Given the description of an element on the screen output the (x, y) to click on. 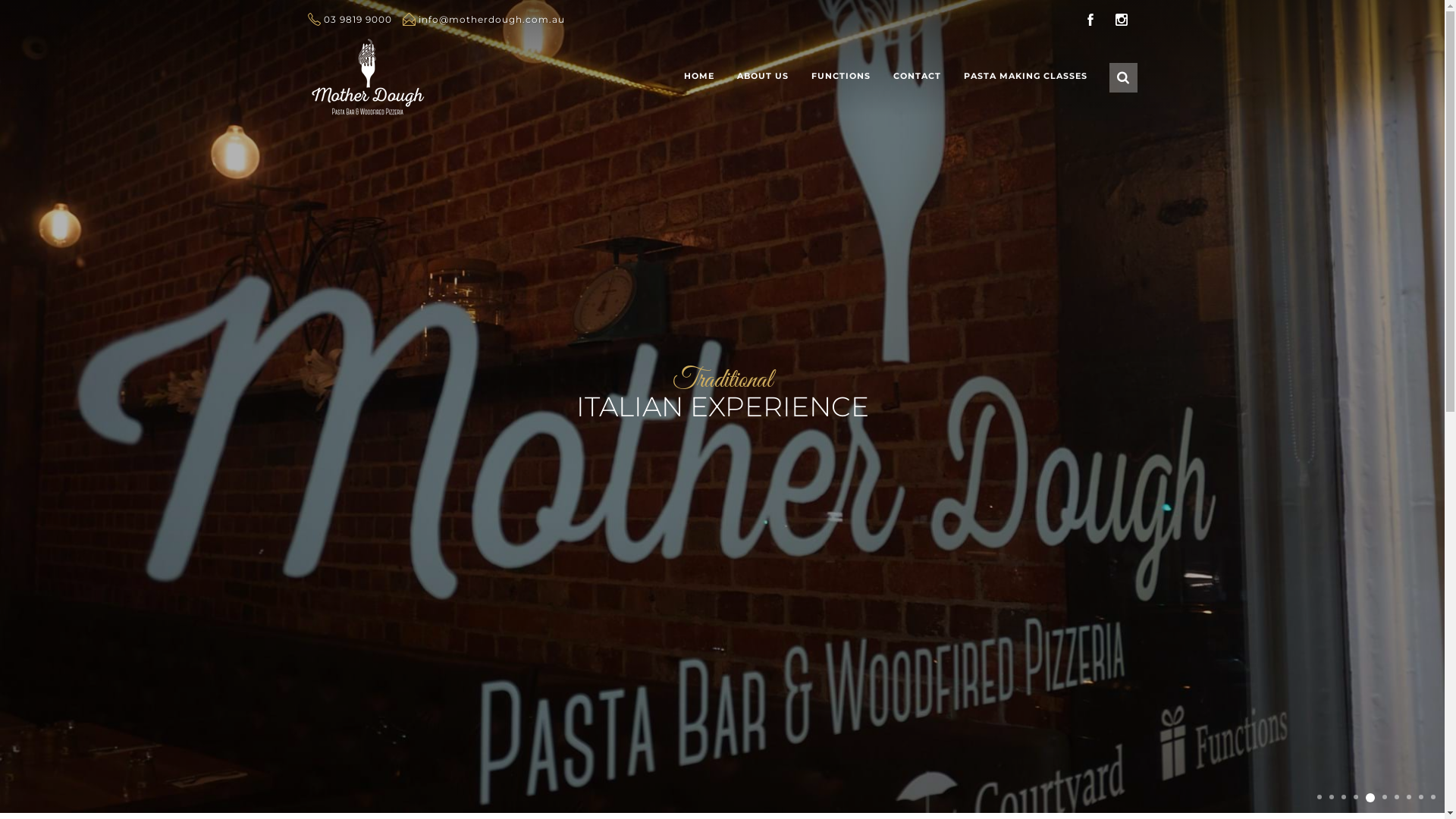
ABOUT US Element type: text (761, 77)
CONTACT Element type: text (916, 77)
info@motherdough.com.au Element type: text (482, 19)
PASTA MAKING CLASSES Element type: text (1025, 77)
03 9819 9000 Element type: text (349, 19)
HOME Element type: text (697, 77)
FUNCTIONS Element type: text (840, 77)
